Given the description of an element on the screen output the (x, y) to click on. 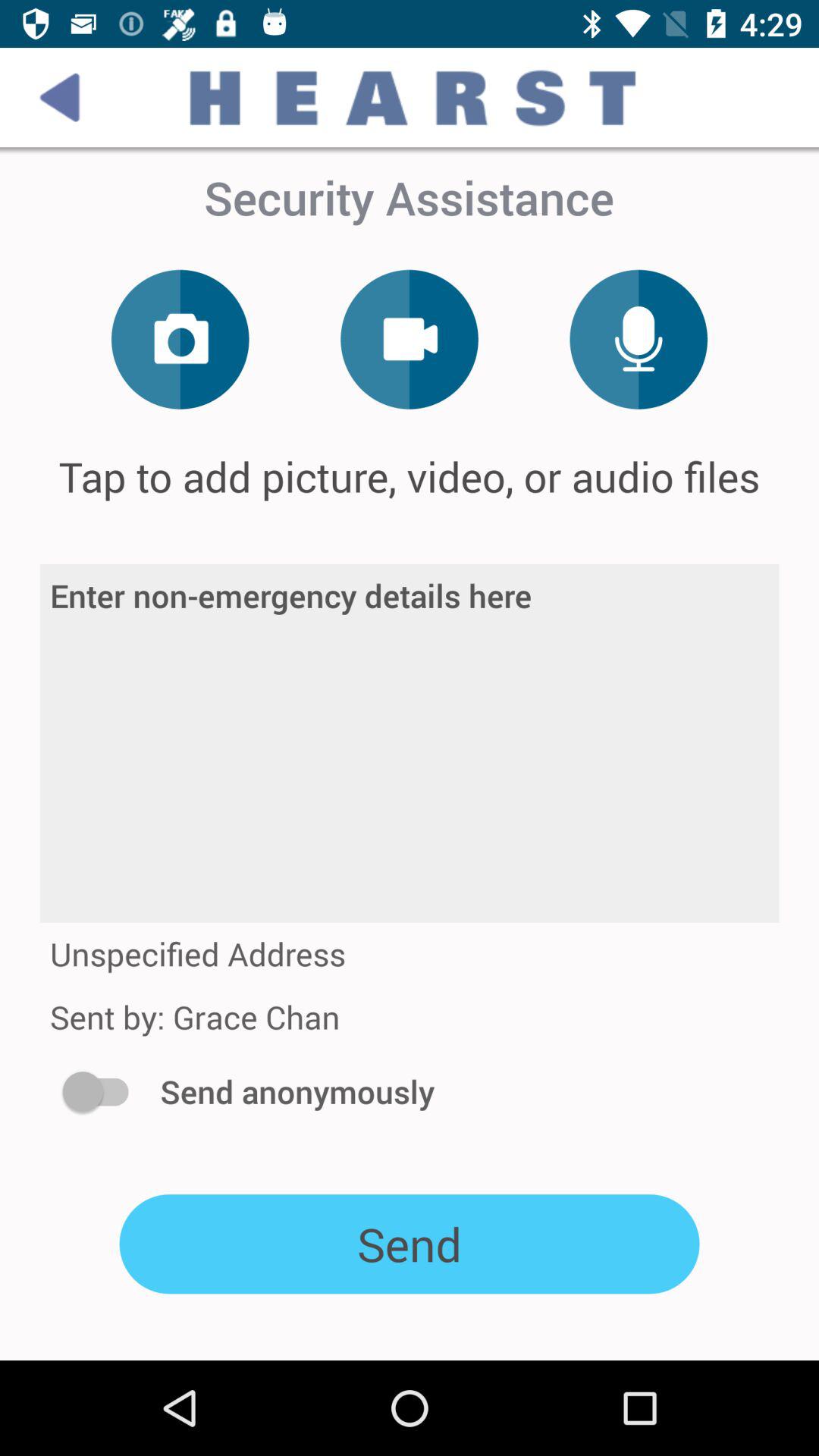
choose the item below the tap to add (409, 743)
